Given the description of an element on the screen output the (x, y) to click on. 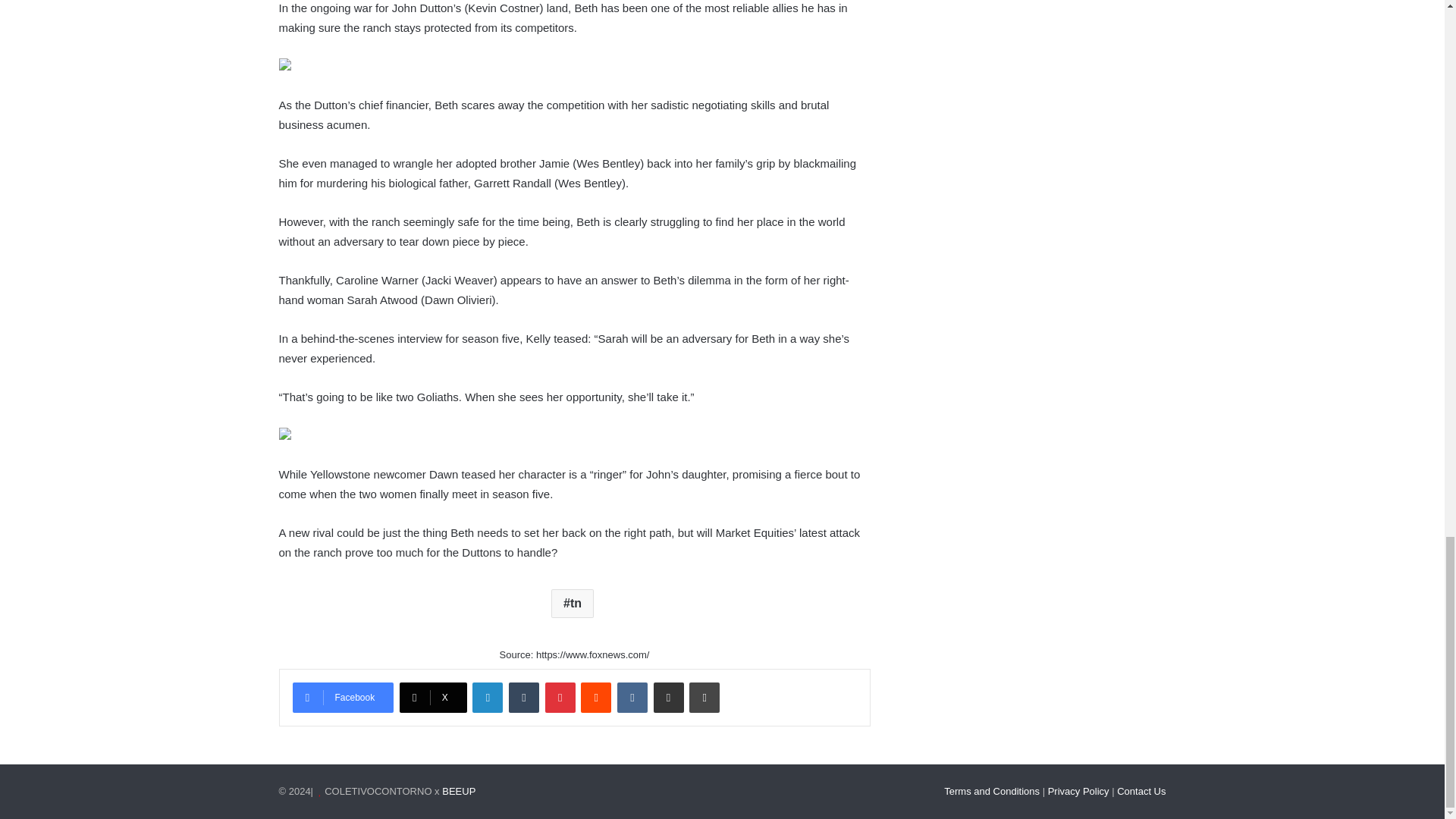
LinkedIn (486, 697)
Facebook (343, 697)
VKontakte (632, 697)
X (432, 697)
Pinterest (559, 697)
Print (703, 697)
Pinterest (559, 697)
Tumblr (523, 697)
Tumblr (523, 697)
LinkedIn (486, 697)
Share via Email (668, 697)
X (432, 697)
Reddit (595, 697)
VKontakte (632, 697)
Facebook (343, 697)
